Given the description of an element on the screen output the (x, y) to click on. 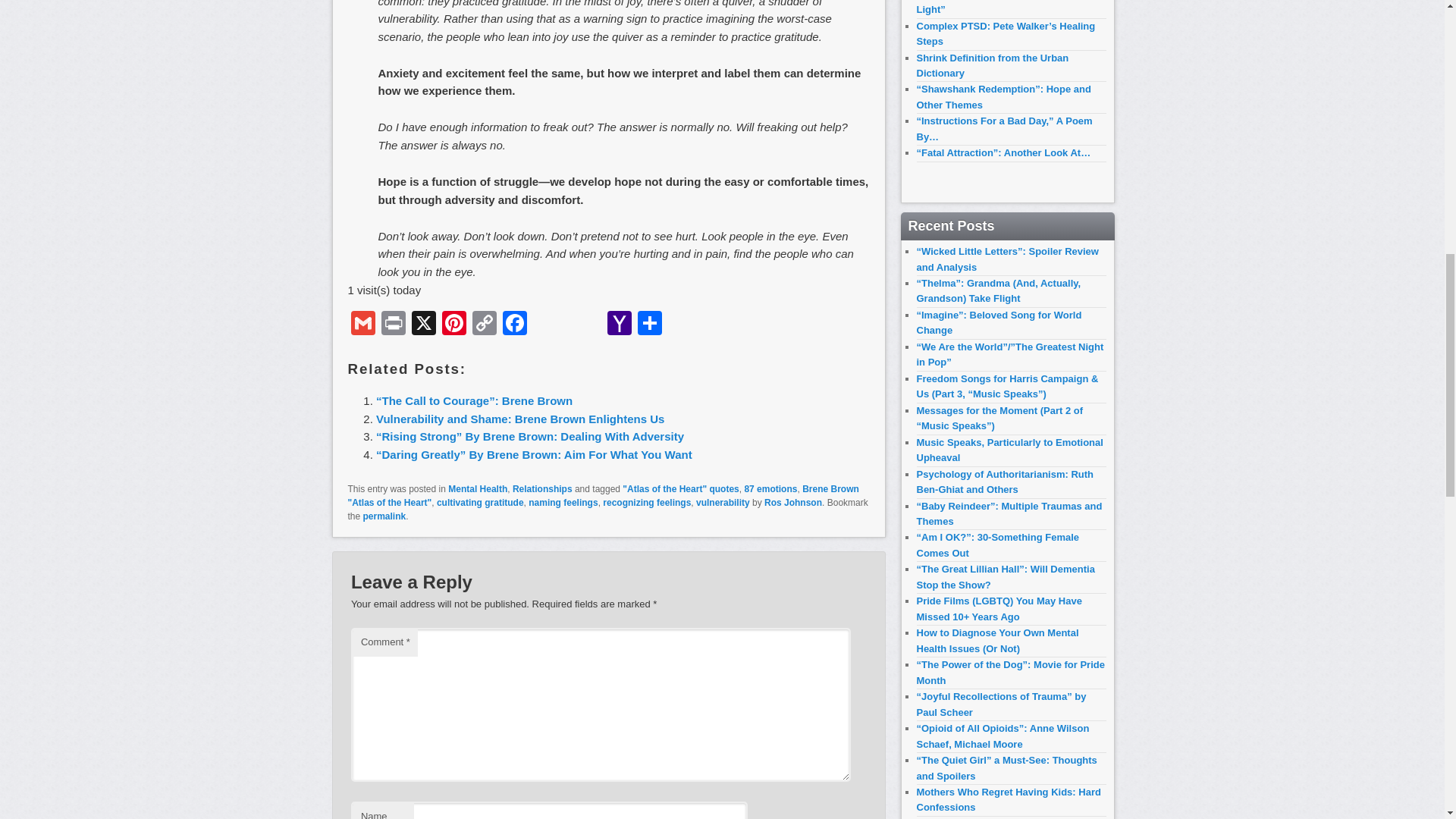
Facebook (514, 325)
Facebook (514, 325)
87 emotions (770, 489)
Vulnerability and Shame: Brene Brown Enlightens Us (519, 418)
Print (392, 325)
Yahoo Mail (618, 325)
Relationships (542, 489)
Mental Health (477, 489)
X (422, 325)
Gmail (362, 325)
